Given the description of an element on the screen output the (x, y) to click on. 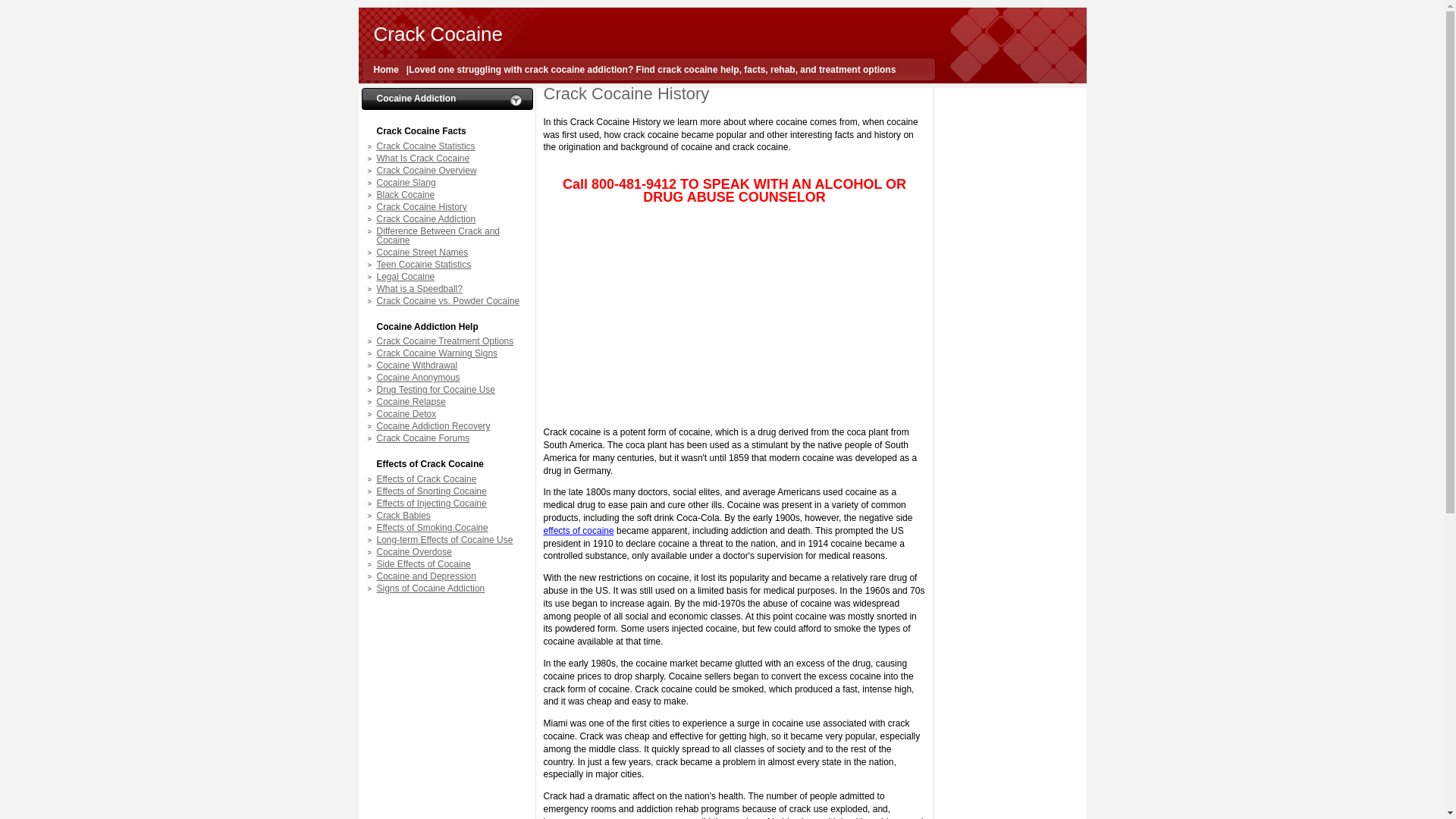
Effects of Crack Cocaine (449, 479)
Cocaine Slang (449, 182)
Cocaine Withdrawal (449, 365)
Cocaine Addiction Recovery (449, 425)
Effects of Snorting Cocaine (449, 491)
Side Effects of Cocaine (449, 563)
Legal Cocaine (449, 276)
Cocaine Overdose (449, 551)
Crack Cocaine History (449, 206)
What is a Speedball? (449, 288)
